Given the description of an element on the screen output the (x, y) to click on. 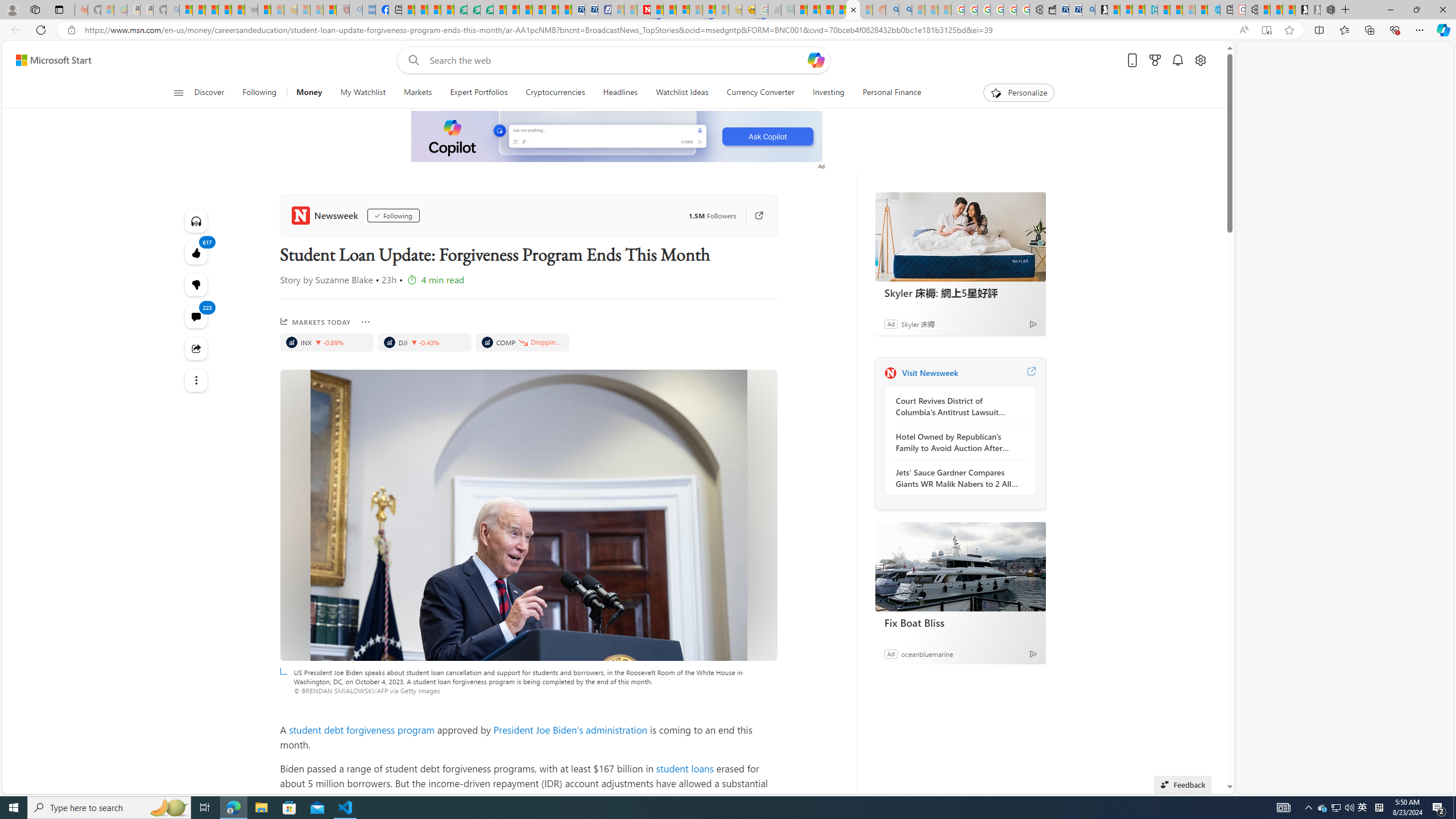
Watchlist Ideas (682, 92)
Cheap Car Rentals - Save70.com (1075, 9)
Markets (417, 92)
MSNBC - MSN (800, 9)
NCL Adult Asthma Inhaler Choice Guideline - Sleeping (369, 9)
Money (308, 92)
Headlines (619, 92)
Headlines (620, 92)
View comments 223 Comment (196, 316)
Combat Siege (251, 9)
Visit Newsweek website (1031, 372)
